Given the description of an element on the screen output the (x, y) to click on. 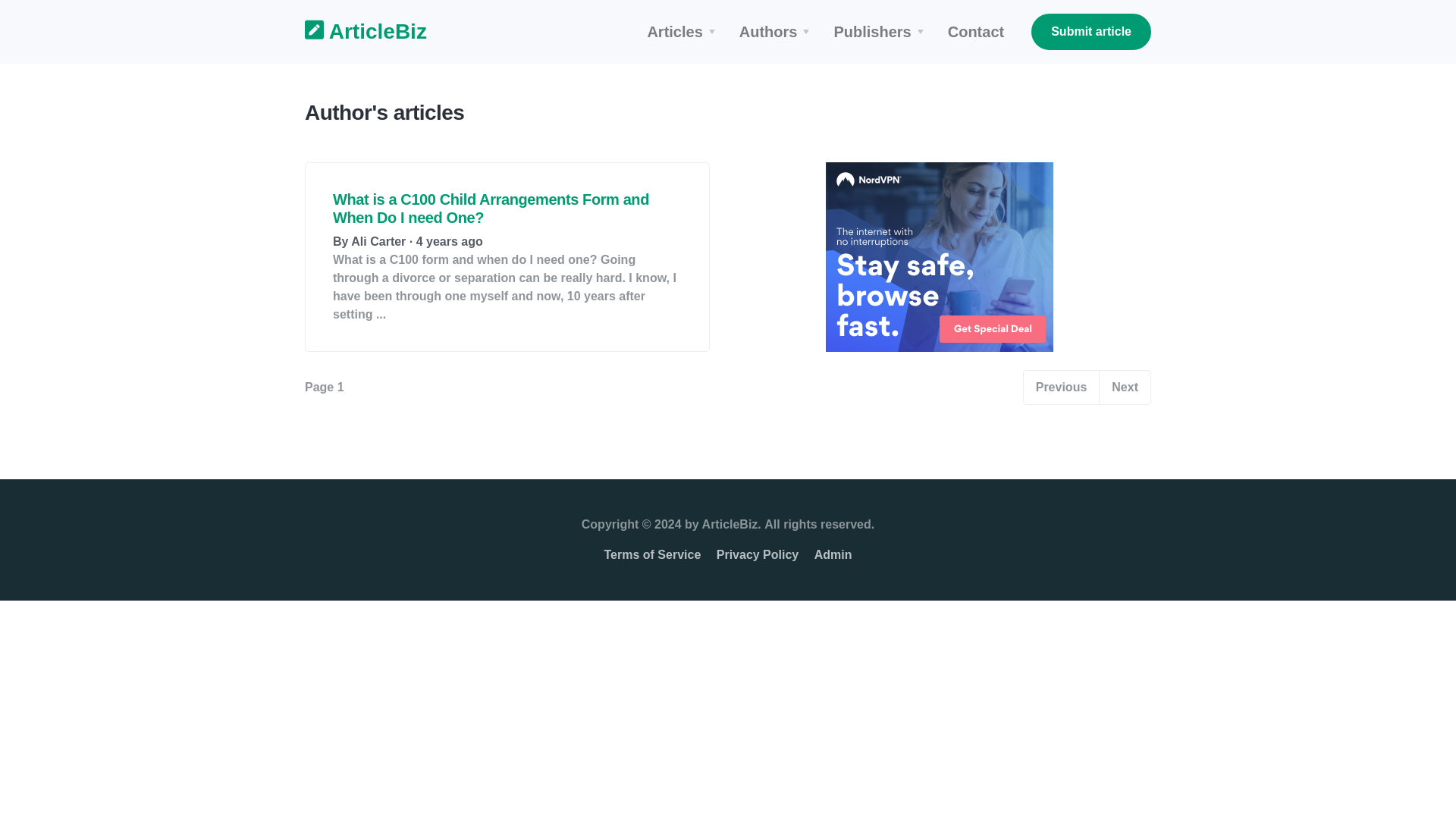
Contact (976, 31)
Authors (777, 31)
Submit article (1090, 31)
Terms of Service (652, 554)
Articles (683, 31)
Admin (832, 554)
ArticleBiz (355, 31)
Publishers (880, 31)
Privacy Policy (757, 554)
